Given the description of an element on the screen output the (x, y) to click on. 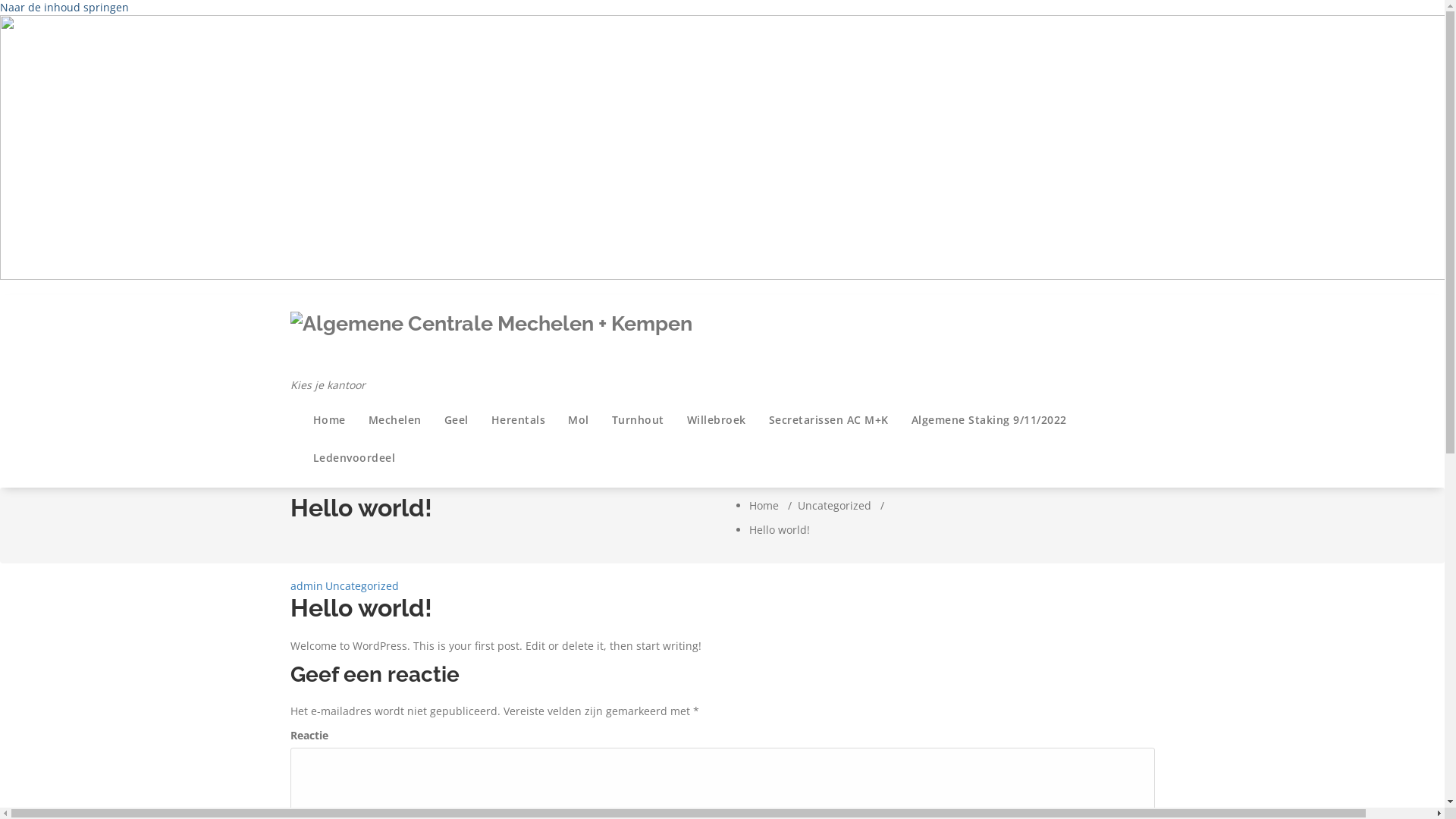
Secretarissen AC M+K Element type: text (827, 420)
Home Element type: text (763, 505)
Algemene Staking 9/11/2022 Element type: text (988, 420)
Mol Element type: text (578, 420)
Herentals Element type: text (517, 420)
admin Element type: text (305, 585)
Ledenvoordeel Element type: text (354, 457)
Home Element type: text (329, 420)
Willebroek Element type: text (715, 420)
Uncategorized Element type: text (361, 585)
Mechelen Element type: text (394, 420)
Uncategorized Element type: text (834, 505)
Geel Element type: text (455, 420)
Turnhout Element type: text (637, 420)
Naar de inhoud springen Element type: text (64, 7)
